Given the description of an element on the screen output the (x, y) to click on. 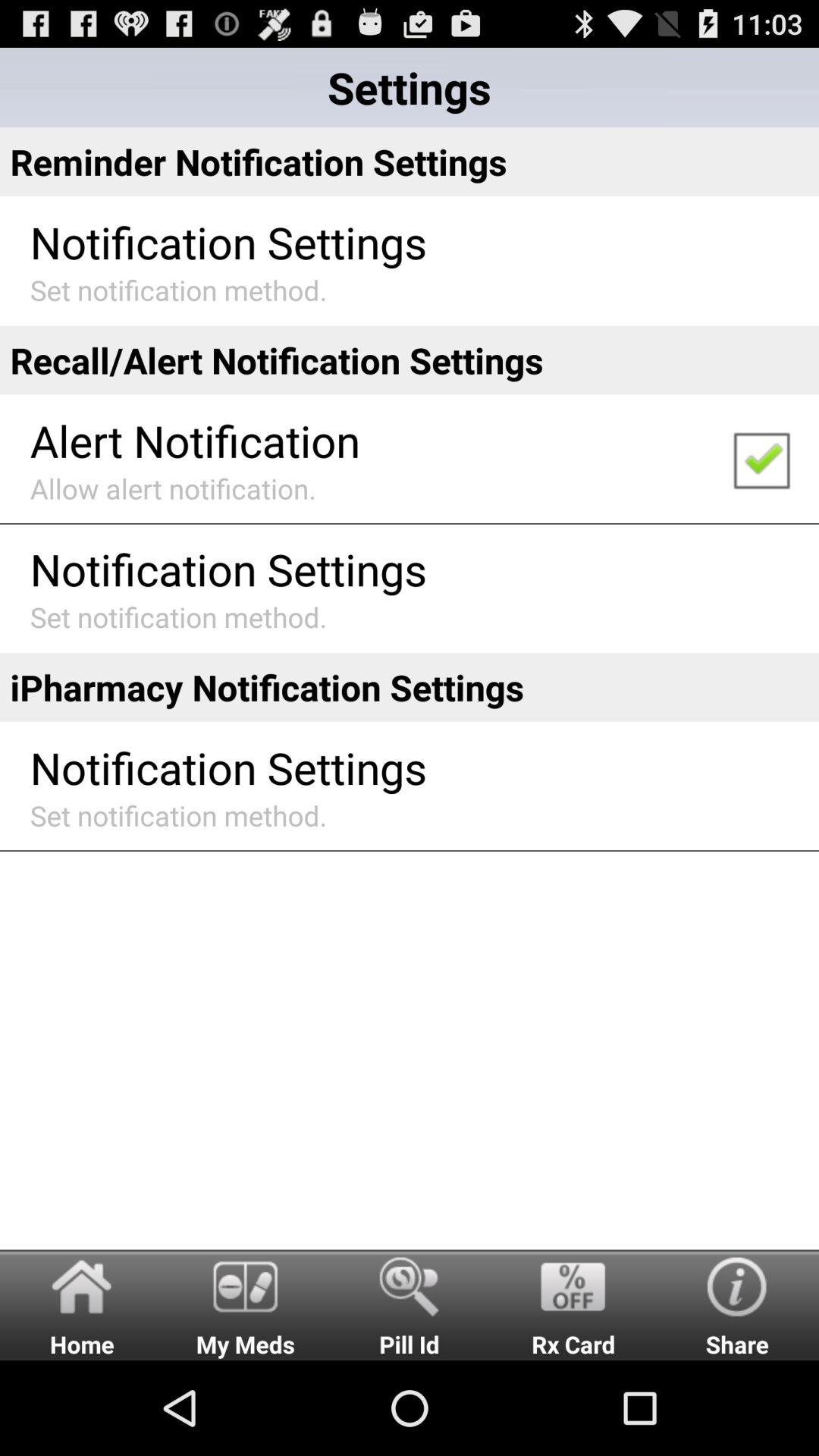
select the item at the top right corner (761, 459)
